Given the description of an element on the screen output the (x, y) to click on. 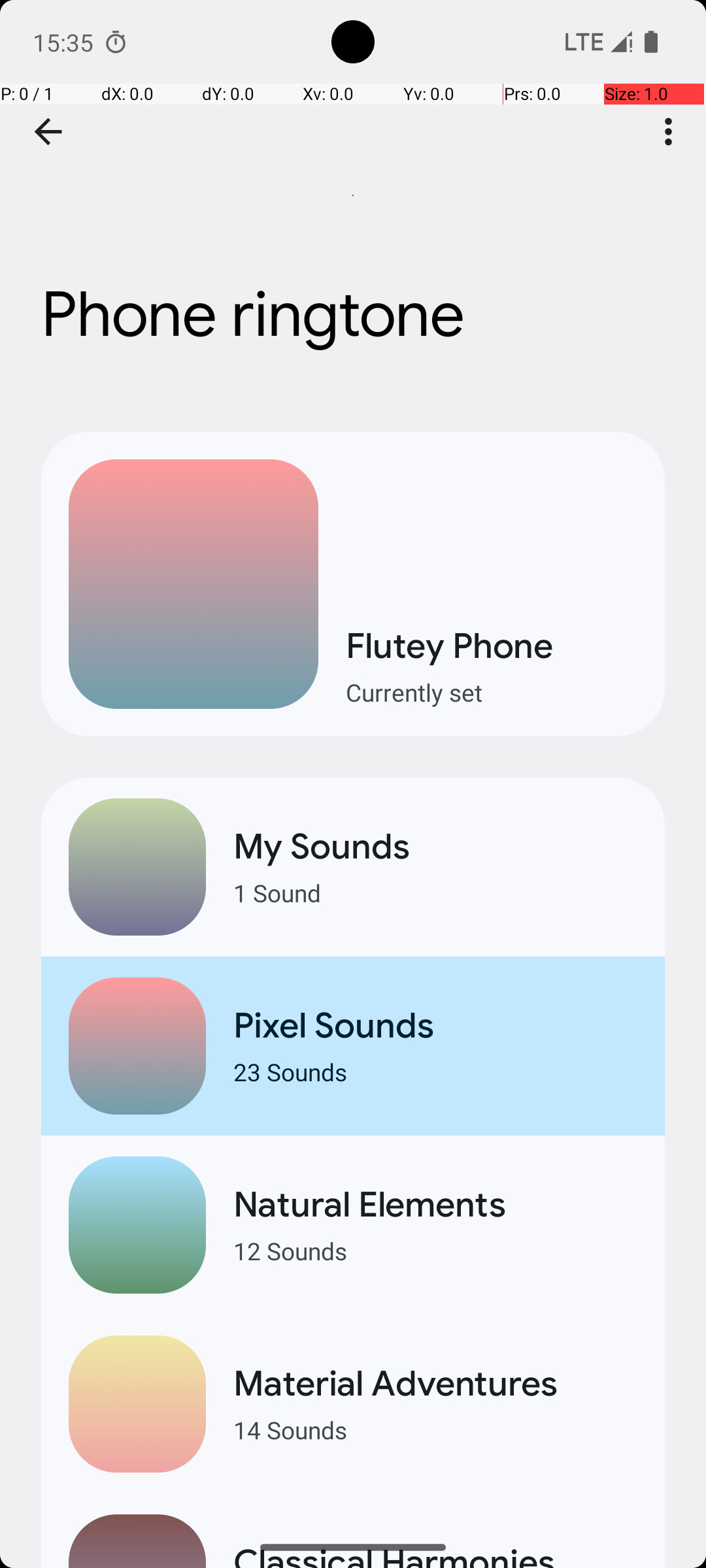
Currently set Element type: android.widget.TextView (491, 691)
My Sounds Element type: android.widget.TextView (435, 846)
1 Sound Element type: android.widget.TextView (435, 892)
Pixel Sounds Element type: android.widget.TextView (435, 1025)
23 Sounds Element type: android.widget.TextView (435, 1071)
Natural Elements Element type: android.widget.TextView (435, 1204)
12 Sounds Element type: android.widget.TextView (435, 1250)
Material Adventures Element type: android.widget.TextView (435, 1383)
14 Sounds Element type: android.widget.TextView (435, 1429)
Classical Harmonies Element type: android.widget.TextView (435, 1554)
